Given the description of an element on the screen output the (x, y) to click on. 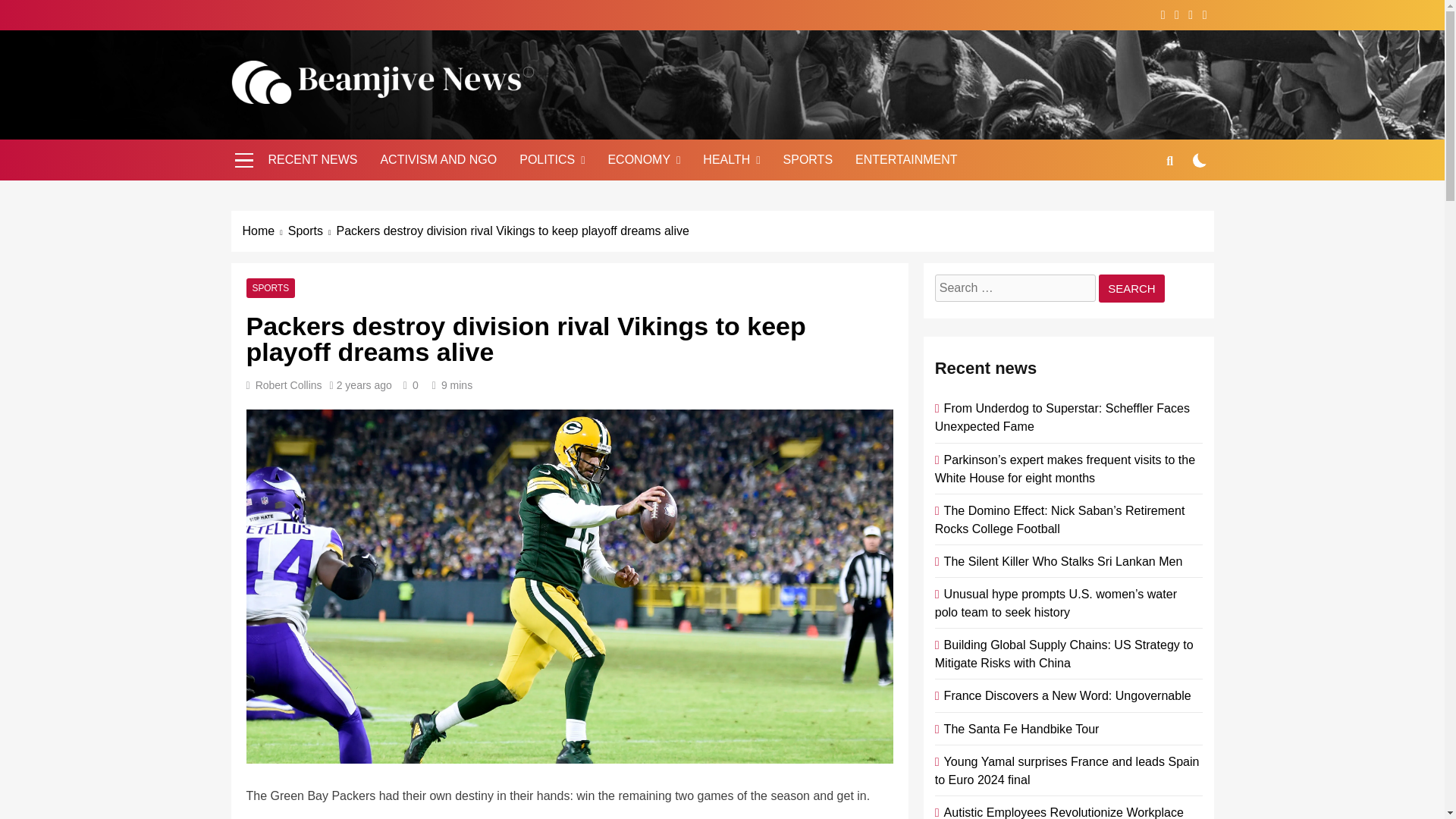
ENTERTAINMENT (906, 159)
POLITICS (551, 159)
2 years ago (363, 385)
ACTIVISM AND NGO (438, 159)
Search (1131, 288)
Robert Collins (288, 385)
HEALTH (731, 159)
RECENT NEWS (312, 159)
SPORTS (807, 159)
ECONOMY (643, 159)
Home (265, 230)
Sports (312, 230)
Search (1131, 288)
Beamjive News (346, 125)
SPORTS (269, 287)
